Given the description of an element on the screen output the (x, y) to click on. 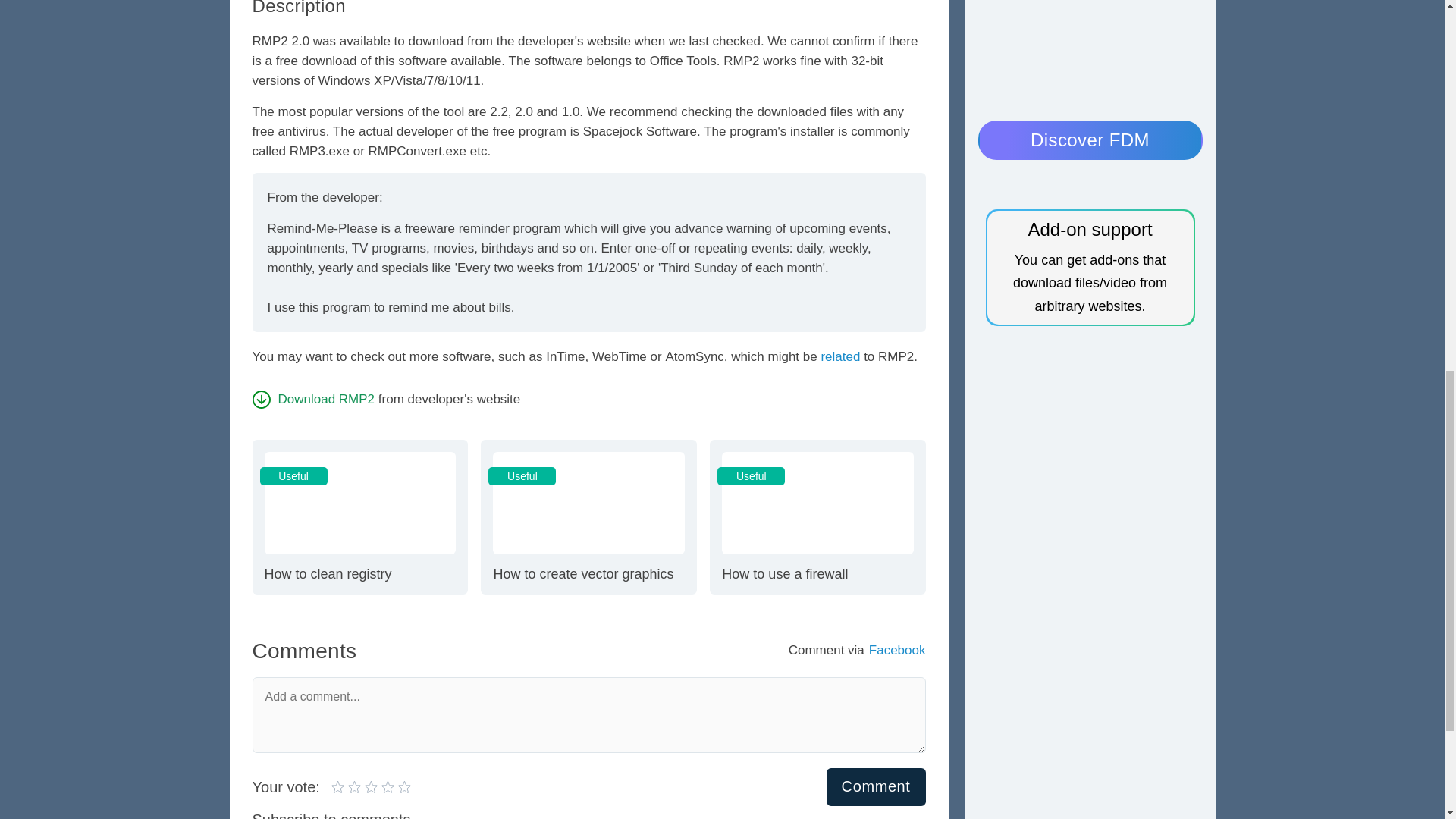
1 (587, 516)
Comment (338, 787)
4 (876, 786)
related (363, 787)
5 (817, 516)
3 (840, 356)
Comment (370, 787)
Download RMP2 (355, 787)
